Given the description of an element on the screen output the (x, y) to click on. 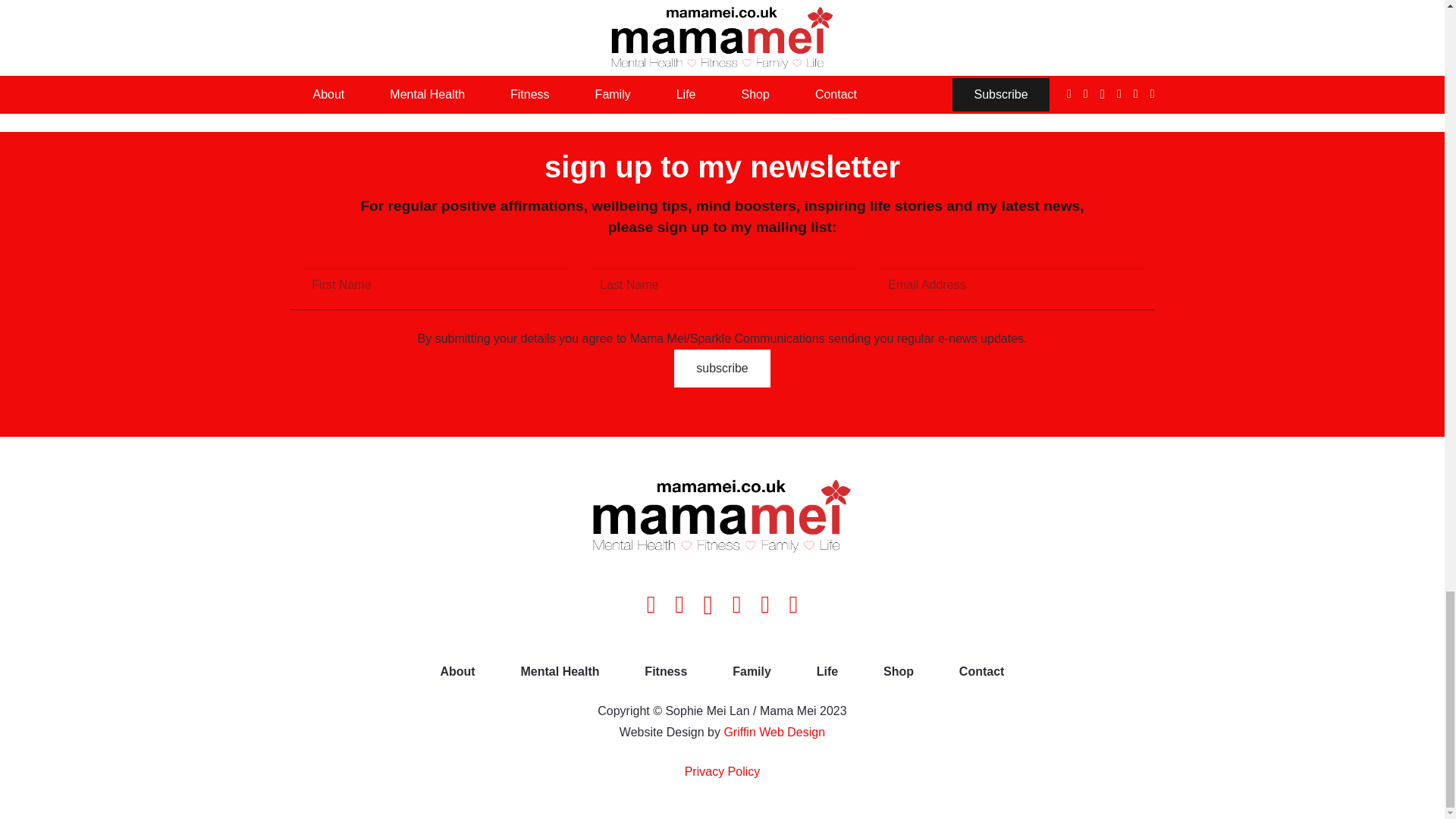
1 (296, 16)
Post Comment (351, 75)
subscribe (722, 368)
